Given the description of an element on the screen output the (x, y) to click on. 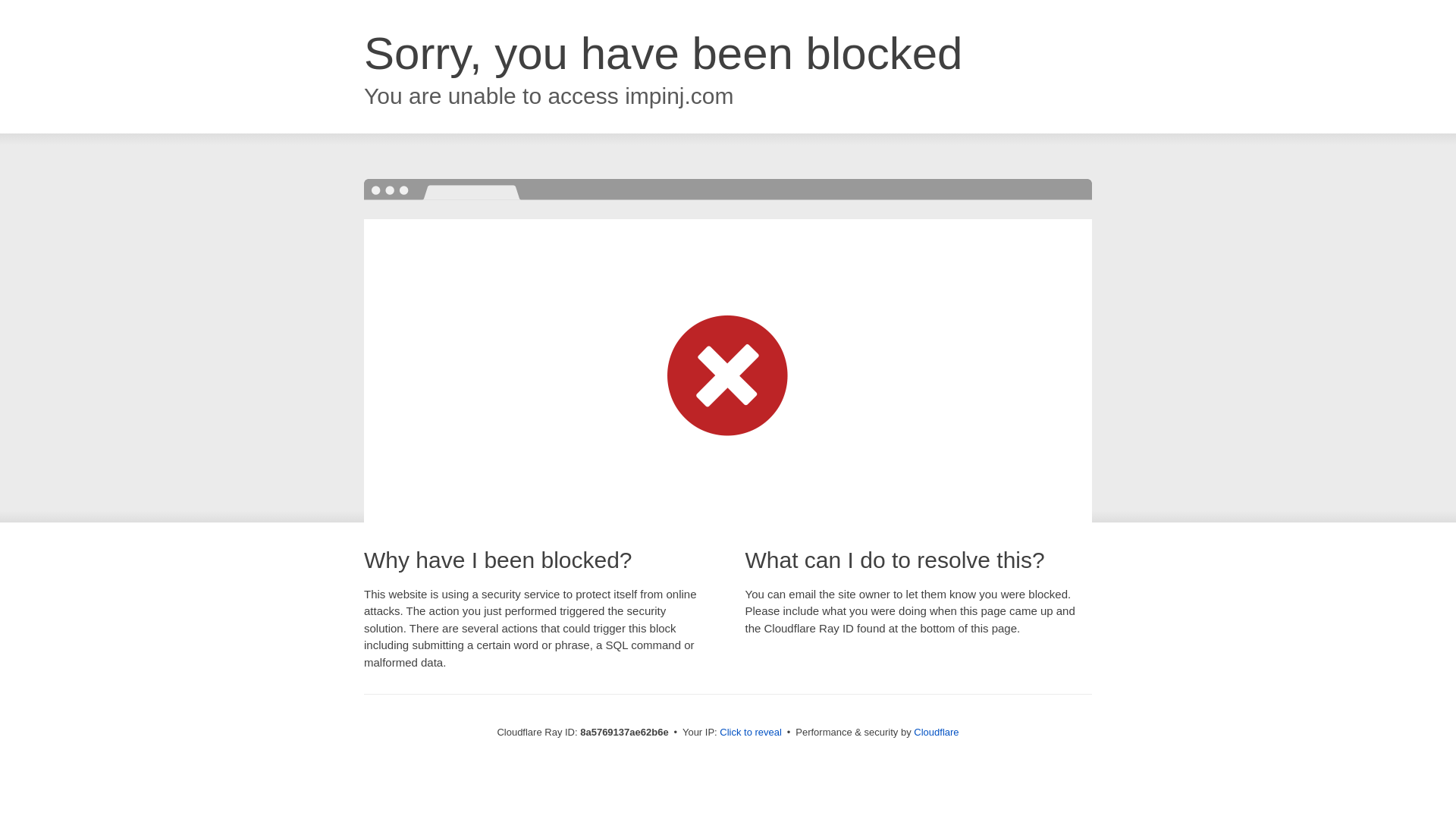
Click to reveal (750, 732)
Cloudflare (936, 731)
